Given the description of an element on the screen output the (x, y) to click on. 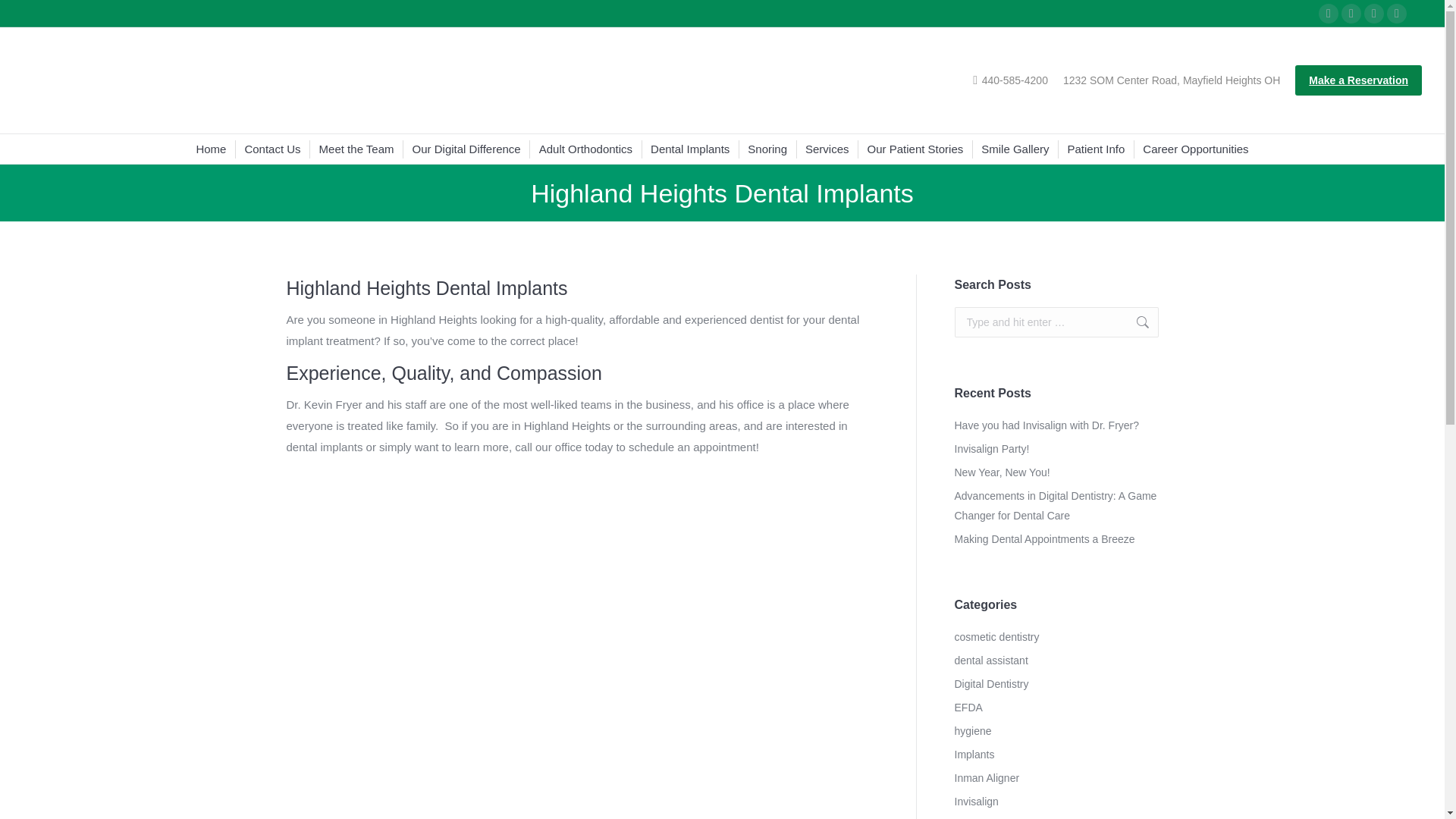
Career Opportunities (1194, 148)
Home (210, 148)
YouTube page opens in new window (1374, 13)
Facebook page opens in new window (1328, 13)
Instagram page opens in new window (1396, 13)
Make a Reservation (1358, 80)
440-585-4200 (1010, 79)
Services (826, 148)
YouTube page opens in new window (1374, 13)
Snoring (767, 148)
Patient Info (1095, 148)
Instagram page opens in new window (1396, 13)
Our Digital Difference (466, 148)
Meet the Team (356, 148)
Go! (1134, 322)
